Given the description of an element on the screen output the (x, y) to click on. 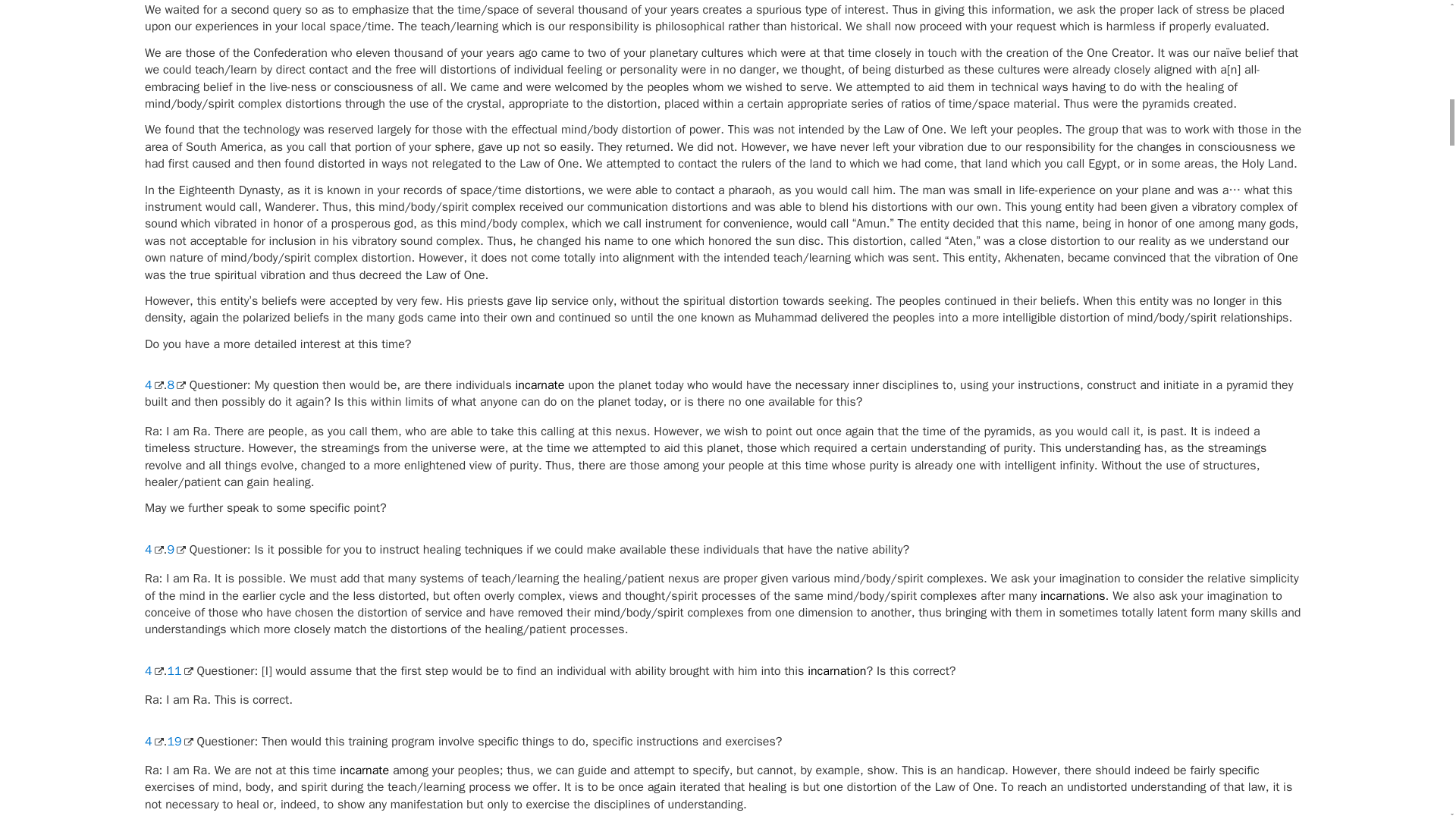
9 (176, 549)
4 (153, 741)
8 (176, 385)
19 (179, 741)
11 (179, 670)
4 (153, 385)
4 (153, 549)
4 (153, 670)
